Given the description of an element on the screen output the (x, y) to click on. 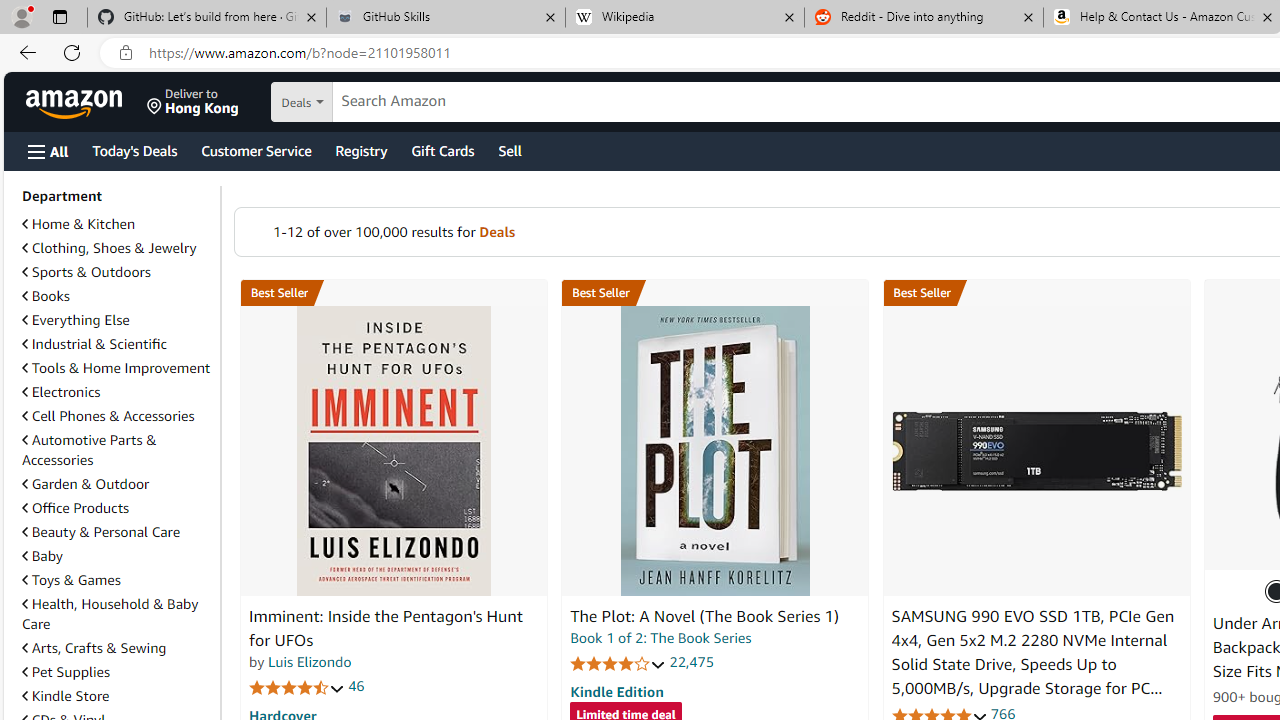
Sell (509, 150)
Skip to main content (86, 100)
Health, Household & Baby Care (117, 614)
Industrial & Scientific (117, 344)
Reddit - Dive into anything (924, 17)
Cell Phones & Accessories (117, 416)
Today's Deals (134, 150)
The Plot: A Novel (The Book Series 1) (714, 451)
Clothing, Shoes & Jewelry (117, 247)
Home & Kitchen (117, 223)
Luis Elizondo (309, 662)
Beauty & Personal Care (117, 532)
Sports & Outdoors (117, 272)
